Given the description of an element on the screen output the (x, y) to click on. 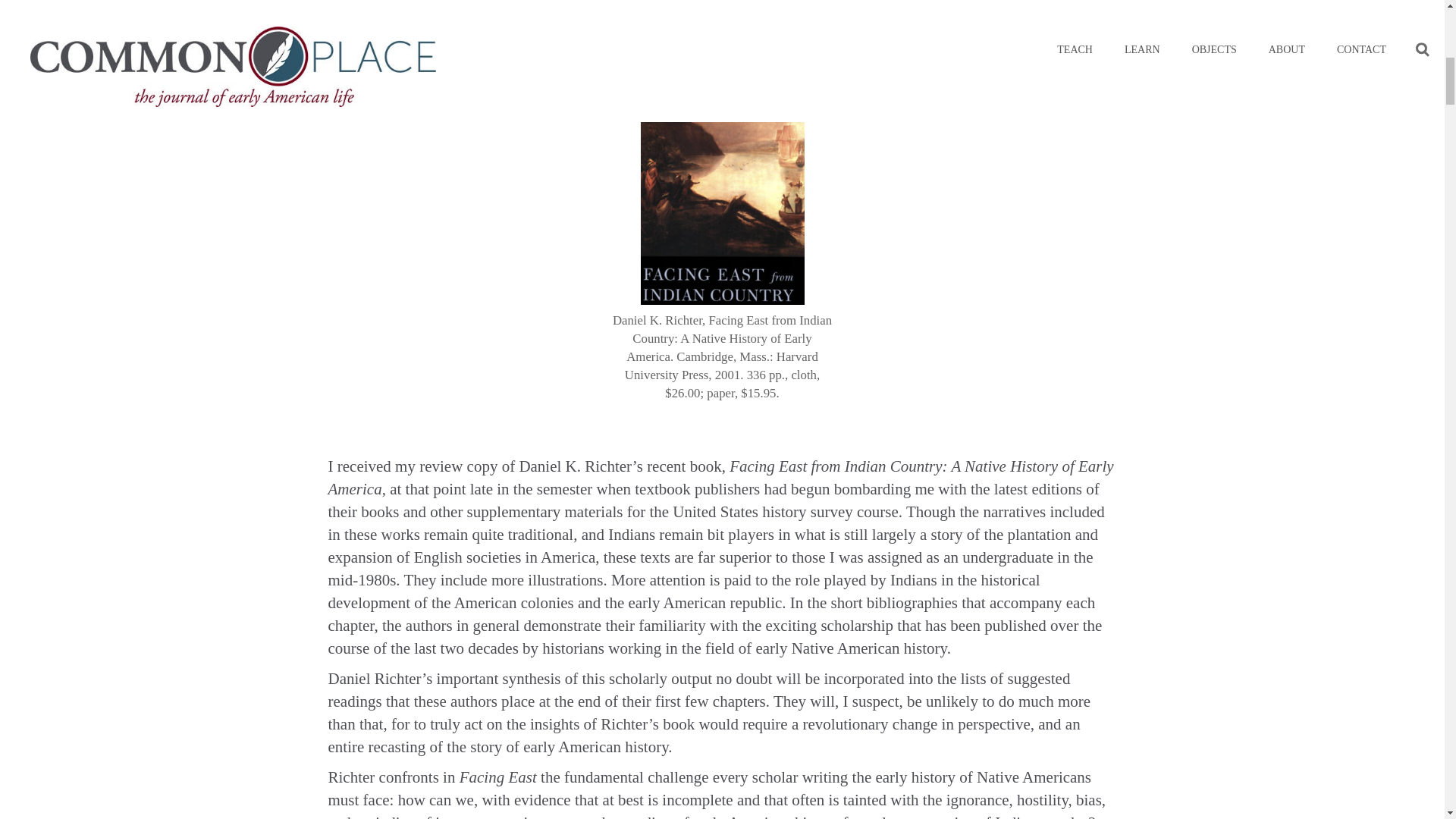
Print (498, 57)
View PDF (350, 57)
Print Content (479, 57)
Save to PDF (395, 57)
